Given the description of an element on the screen output the (x, y) to click on. 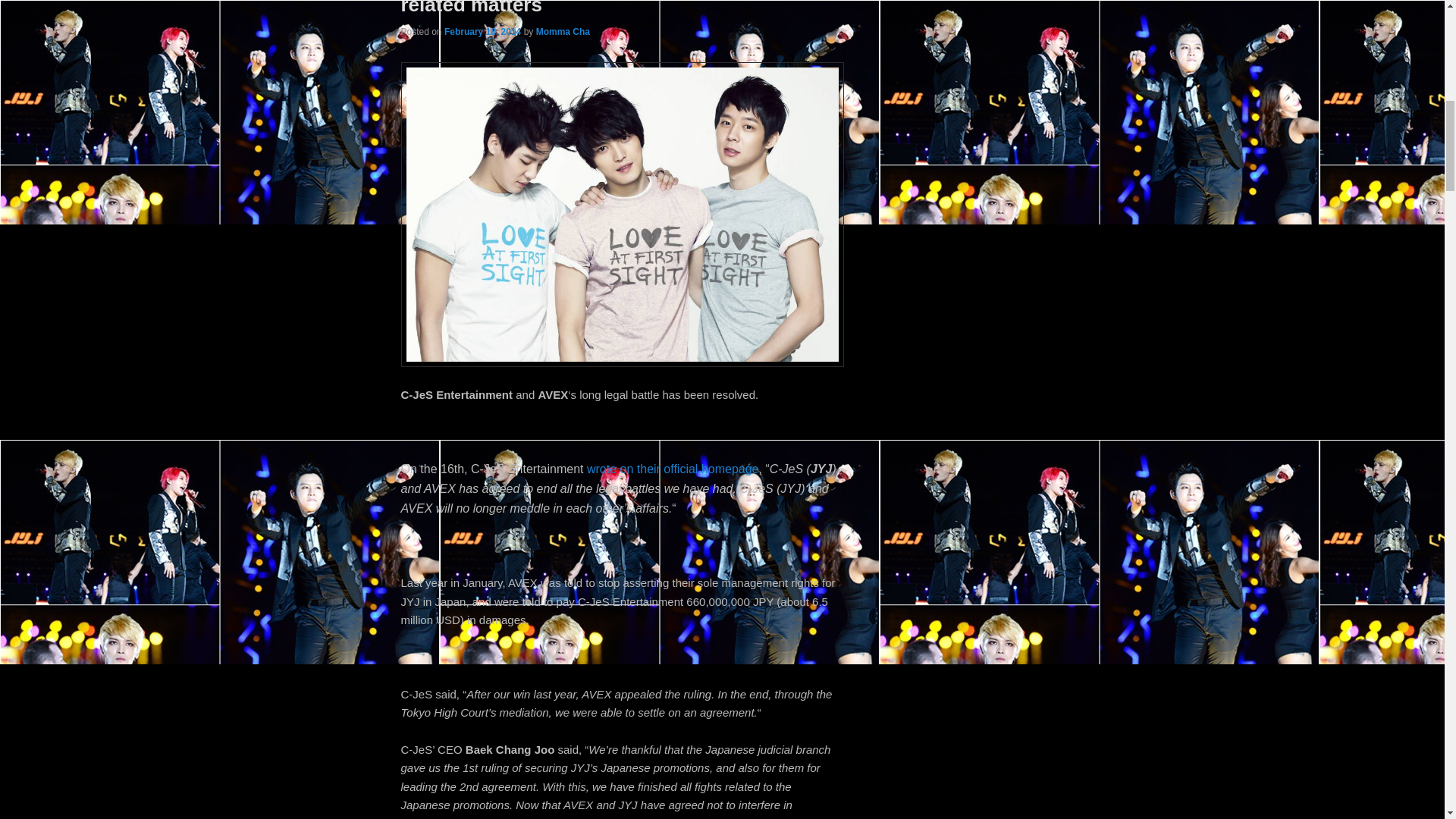
View all posts by Momma Cha (562, 31)
wrote on their official homepage (672, 468)
February 18, 2014 (482, 31)
1:19 pm (482, 31)
Momma Cha (562, 31)
